Given the description of an element on the screen output the (x, y) to click on. 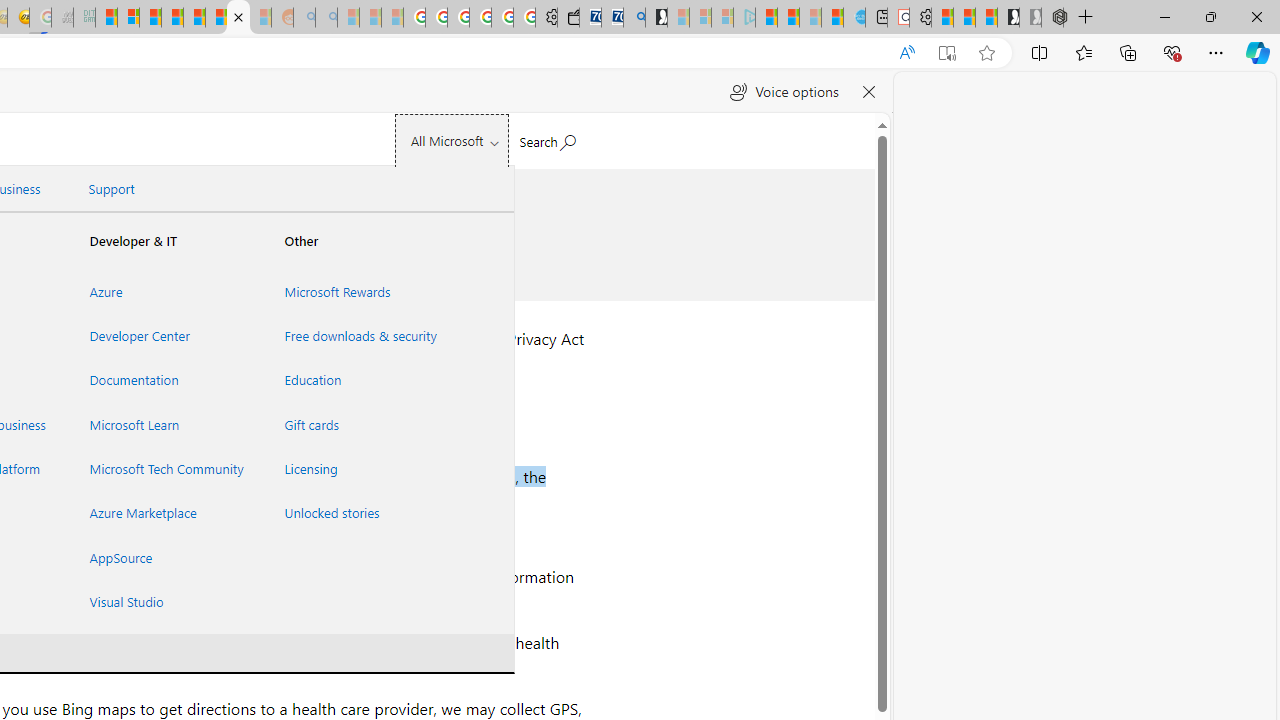
Home | Sky Blue Bikes - Sky Blue Bikes (854, 17)
Kinda Frugal - MSN (216, 17)
Microsoft Rewards (357, 291)
Utah sues federal government - Search - Sleeping (326, 17)
Azure Marketplace (163, 513)
Licensing (357, 468)
Microsoft Rewards (357, 291)
Azure Marketplace (163, 513)
Unlocked stories (357, 513)
Free downloads & security (357, 336)
Microsoft Learn (163, 424)
Microsoft Start Gaming (656, 17)
